Given the description of an element on the screen output the (x, y) to click on. 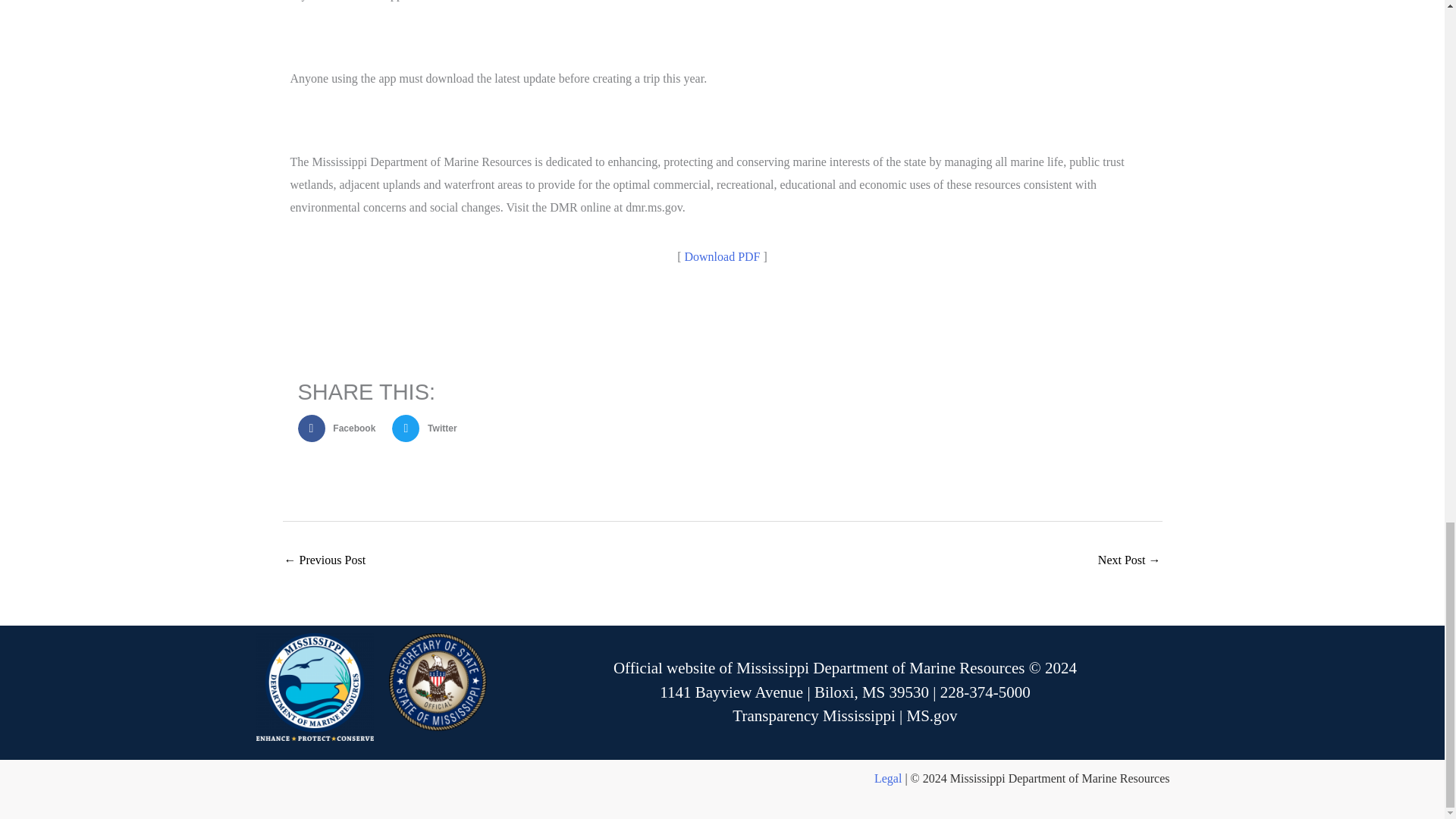
CMR approves state record for Almaco Jack (324, 561)
NOAA to perform courtesy TED checks May 30-31 (1128, 561)
